Given the description of an element on the screen output the (x, y) to click on. 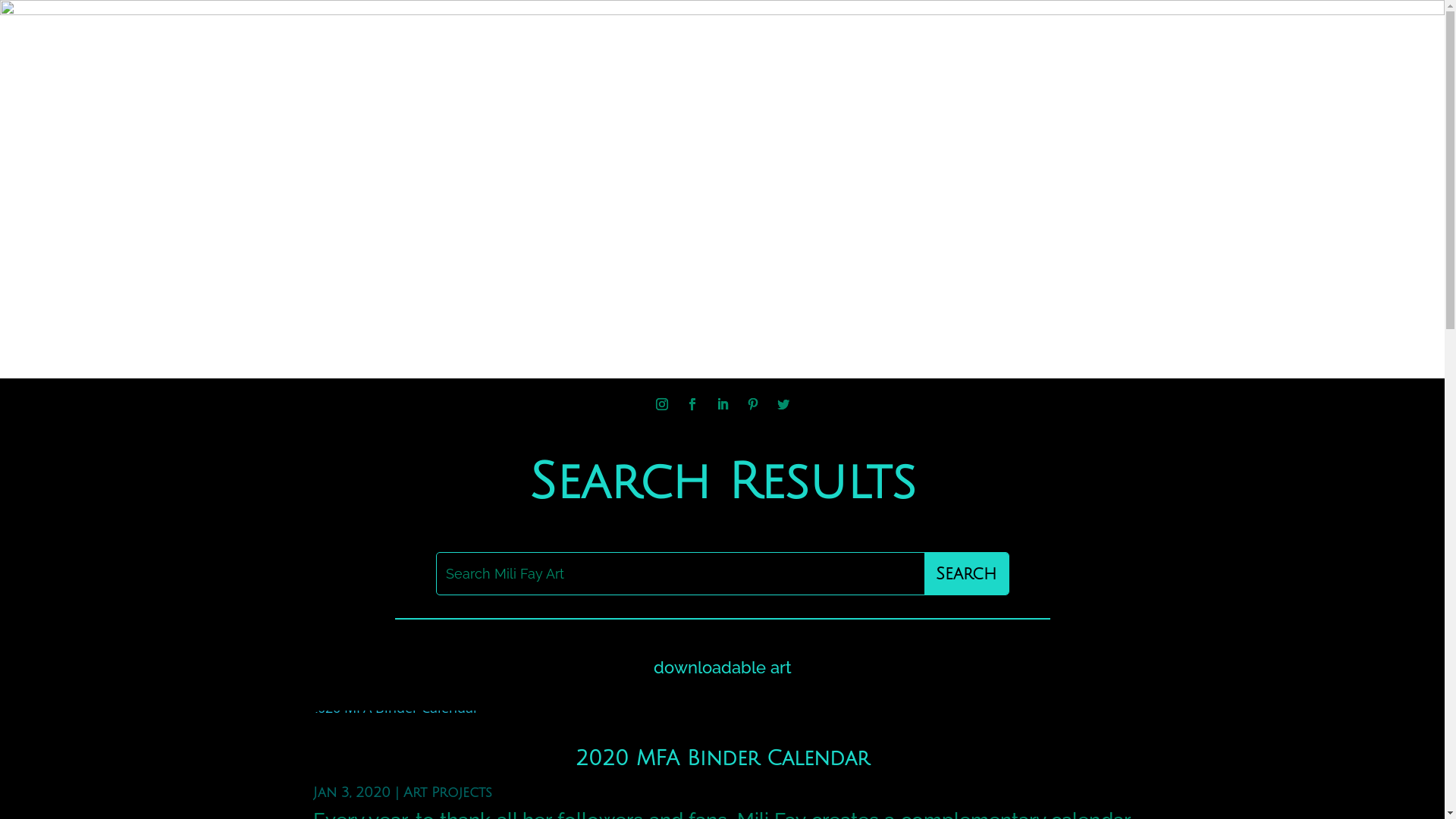
2020 MFA Binder Calendar Element type: text (722, 758)
Follow on LinkedIn Element type: hover (721, 404)
Search Element type: text (966, 573)
Follow on Pinterest Element type: hover (752, 404)
Follow on Facebook Element type: hover (691, 404)
Follow on Instagram Element type: hover (661, 404)
Art Projects Element type: text (447, 792)
Follow on Twitter Element type: hover (782, 404)
